Given the description of an element on the screen output the (x, y) to click on. 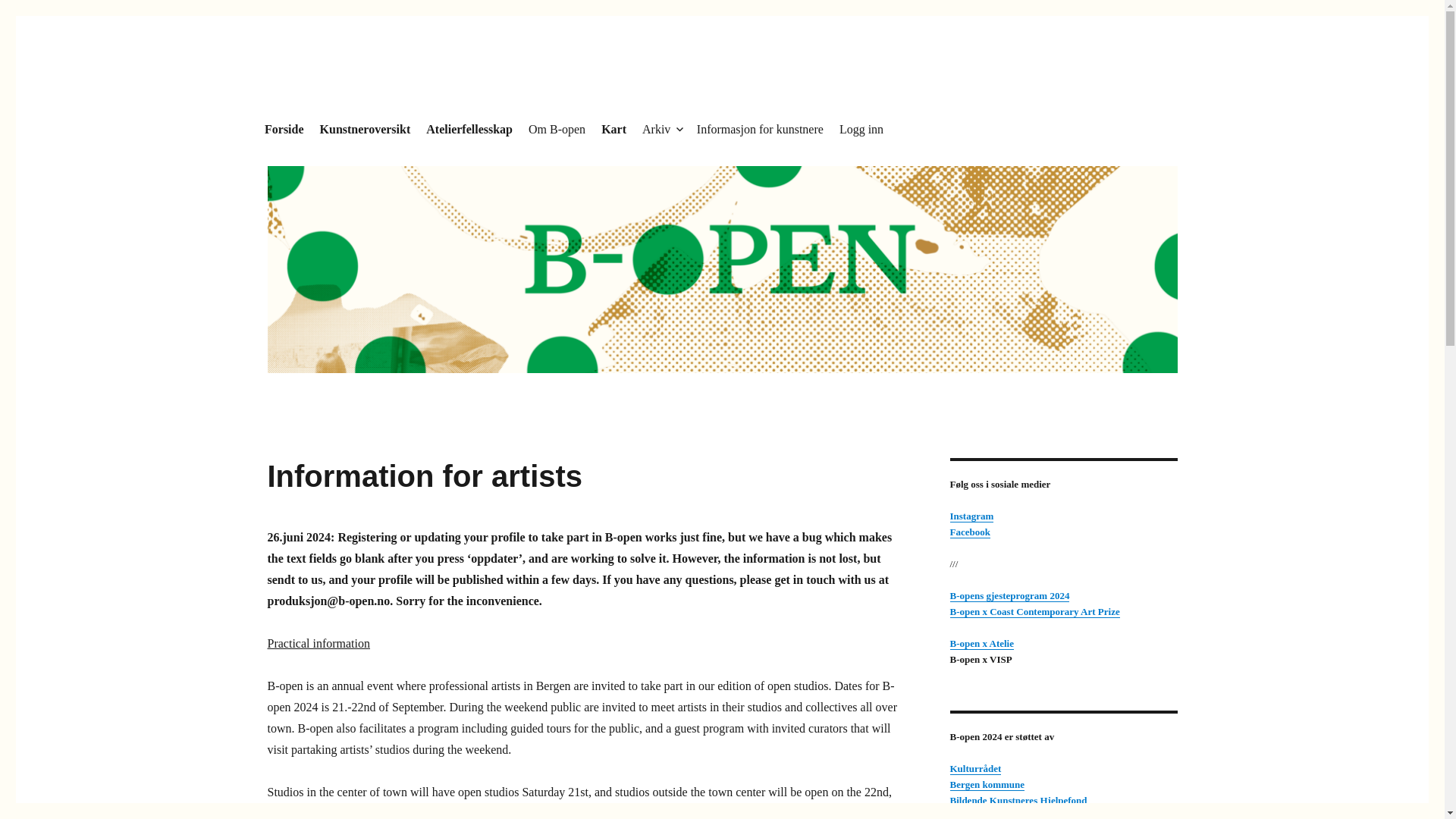
Atelierfellesskap (470, 128)
Facebook (969, 531)
Arkiv (660, 128)
Informasjon for kunstnere (759, 128)
Forside (283, 128)
Instagram (970, 515)
B-open x Coast Contemporary Art Prize (1034, 611)
Logg inn (861, 128)
B-opens gjesteprogram 2024 (1008, 595)
Vestlands Fylkeskommune (1005, 814)
Om B-open (557, 128)
B-open x Atelie (981, 643)
Bergen kommune (987, 784)
Kunstneroversikt (365, 128)
Kart (614, 128)
